Given the description of an element on the screen output the (x, y) to click on. 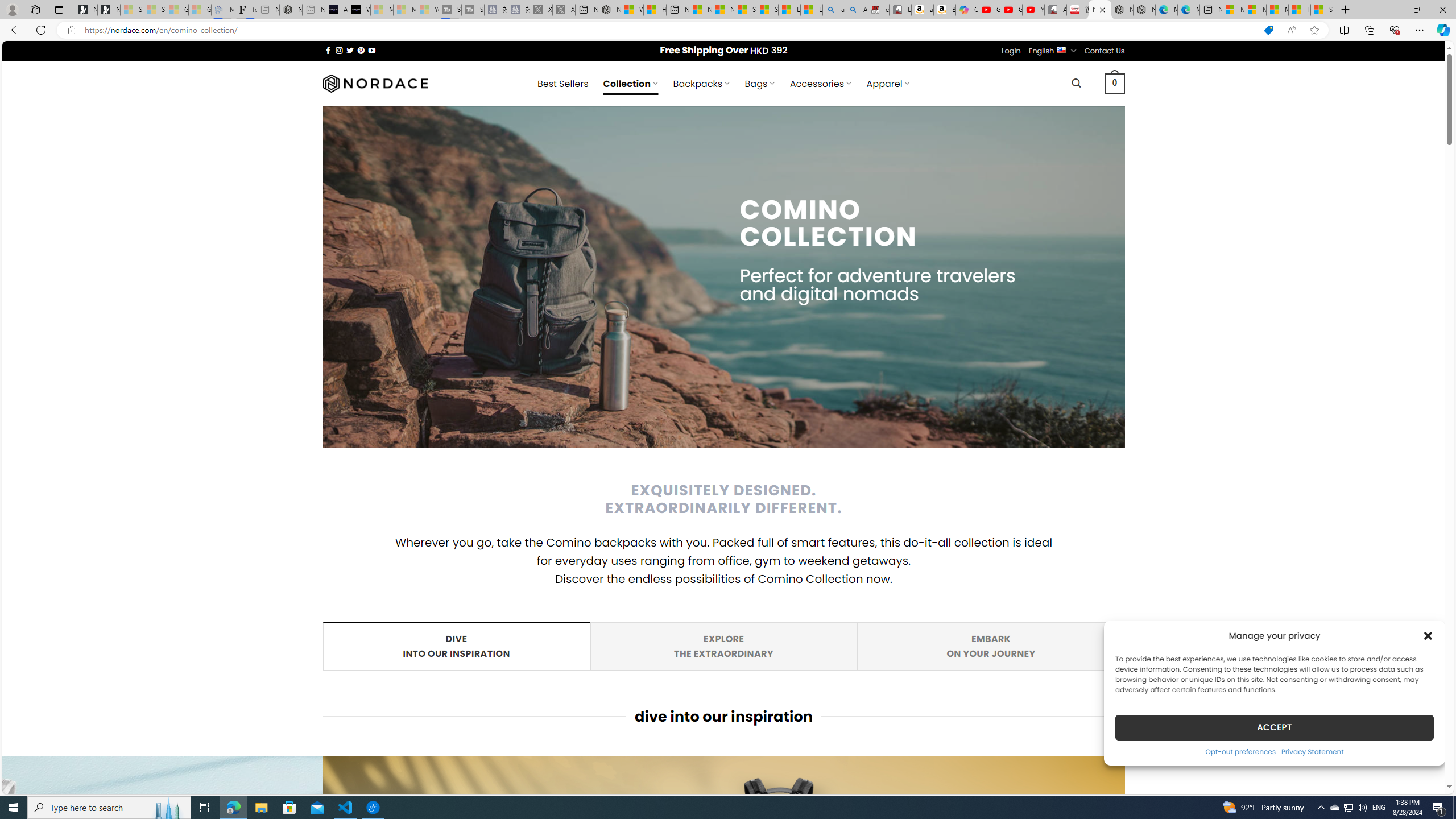
YouTube Kids - An App Created for Kids to Explore Content (1033, 9)
  Best Sellers (562, 83)
What's the best AI voice generator? - voice.ai (723, 645)
amazon - Search (359, 9)
ACCEPT (834, 9)
Class: cmplz-close (1274, 727)
 Best Sellers (1428, 635)
